Given the description of an element on the screen output the (x, y) to click on. 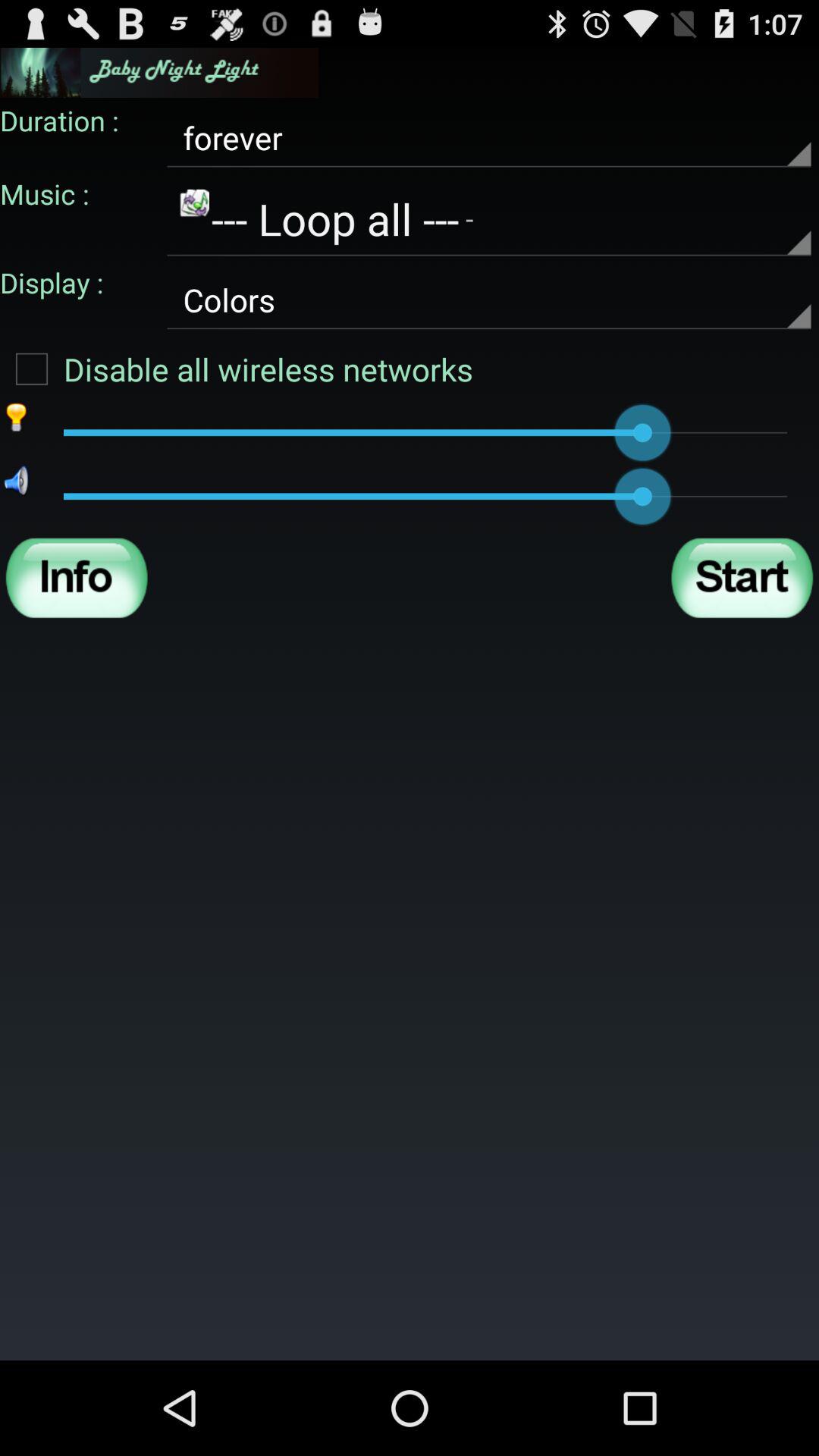
more info (76, 577)
